Given the description of an element on the screen output the (x, y) to click on. 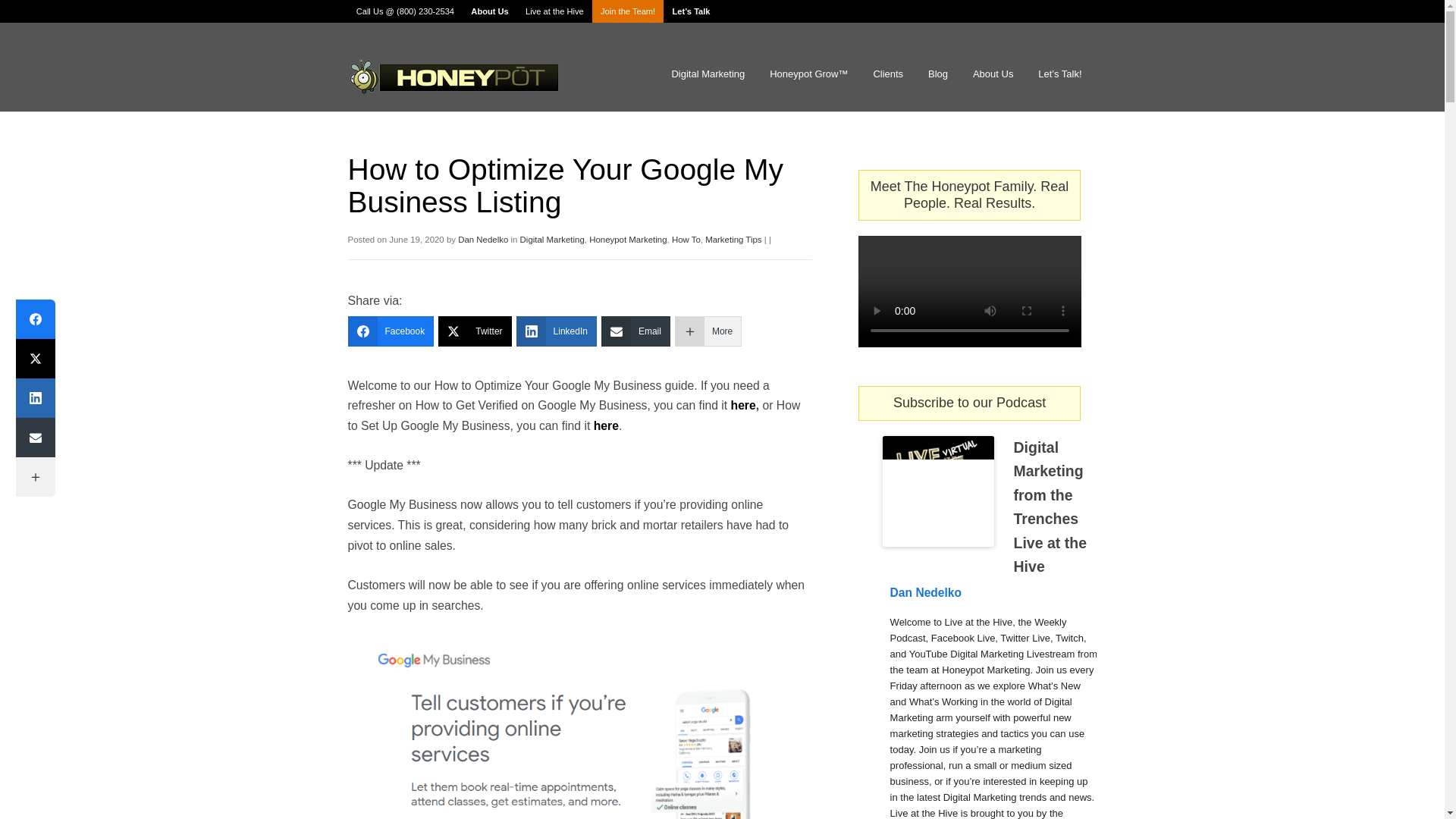
Facebook (390, 331)
Digital Marketing (552, 239)
Posts by Dan Nedelko (483, 239)
Digital Marketing (707, 73)
We use insights to drive business results (453, 76)
Join the Team! (627, 11)
Honeypot Marketing (627, 239)
Dan Nedelko (483, 239)
How To (685, 239)
Twitter (474, 331)
here (742, 404)
More (708, 331)
About Us (992, 73)
About Us (489, 11)
Blog (938, 73)
